Given the description of an element on the screen output the (x, y) to click on. 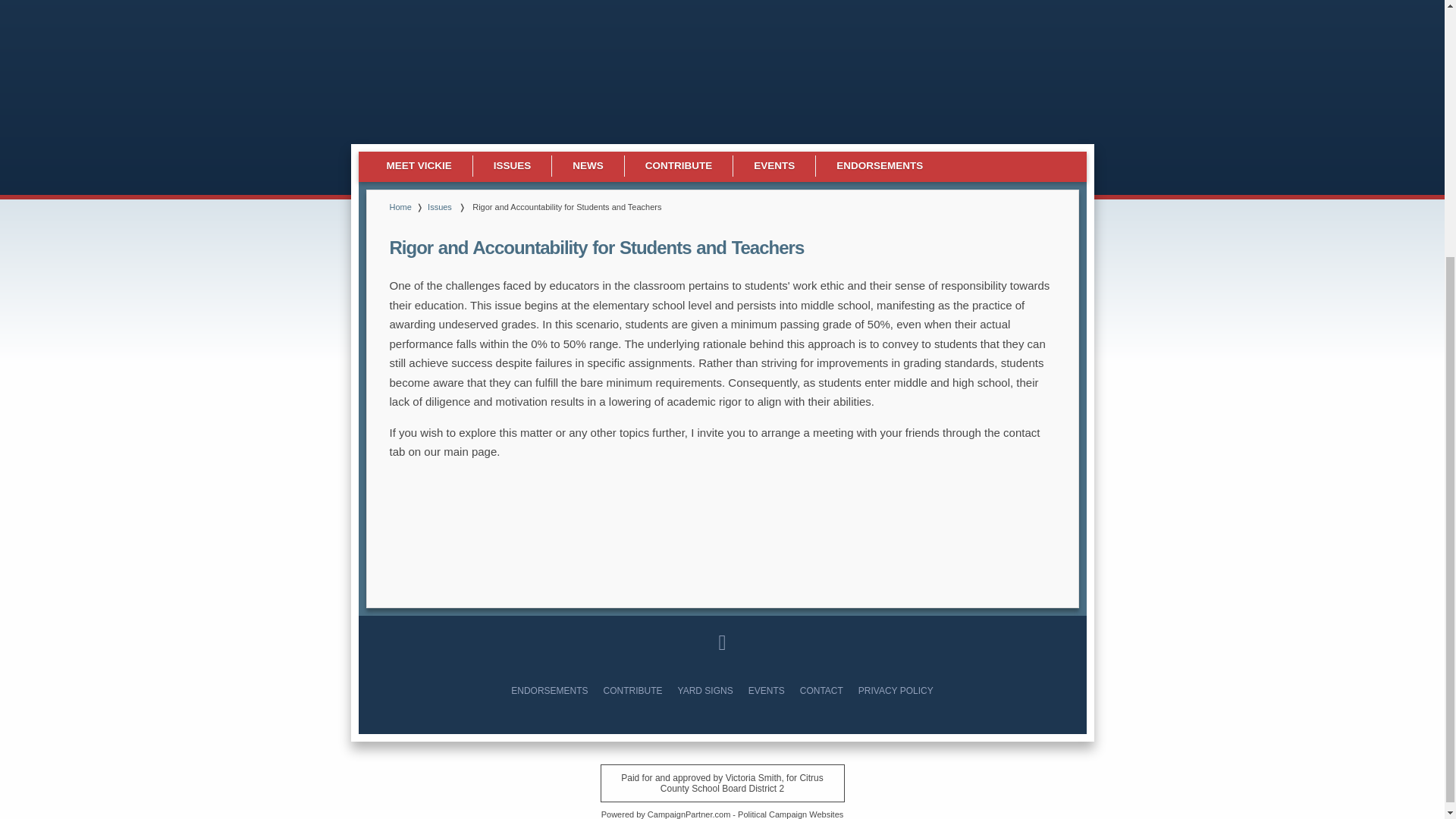
MEET VICKIE (418, 166)
Issues (439, 206)
ISSUES (513, 166)
CONTRIBUTE (678, 166)
CONTACT (821, 690)
PRIVACY POLICY (896, 690)
EVENTS (766, 690)
YARD SIGNS (705, 690)
EVENTS (774, 166)
CONTRIBUTE (633, 690)
ENDORSEMENTS (549, 690)
ENDORSEMENTS (879, 166)
Home (401, 206)
NEWS (587, 166)
Join us on Facebook (721, 642)
